Given the description of an element on the screen output the (x, y) to click on. 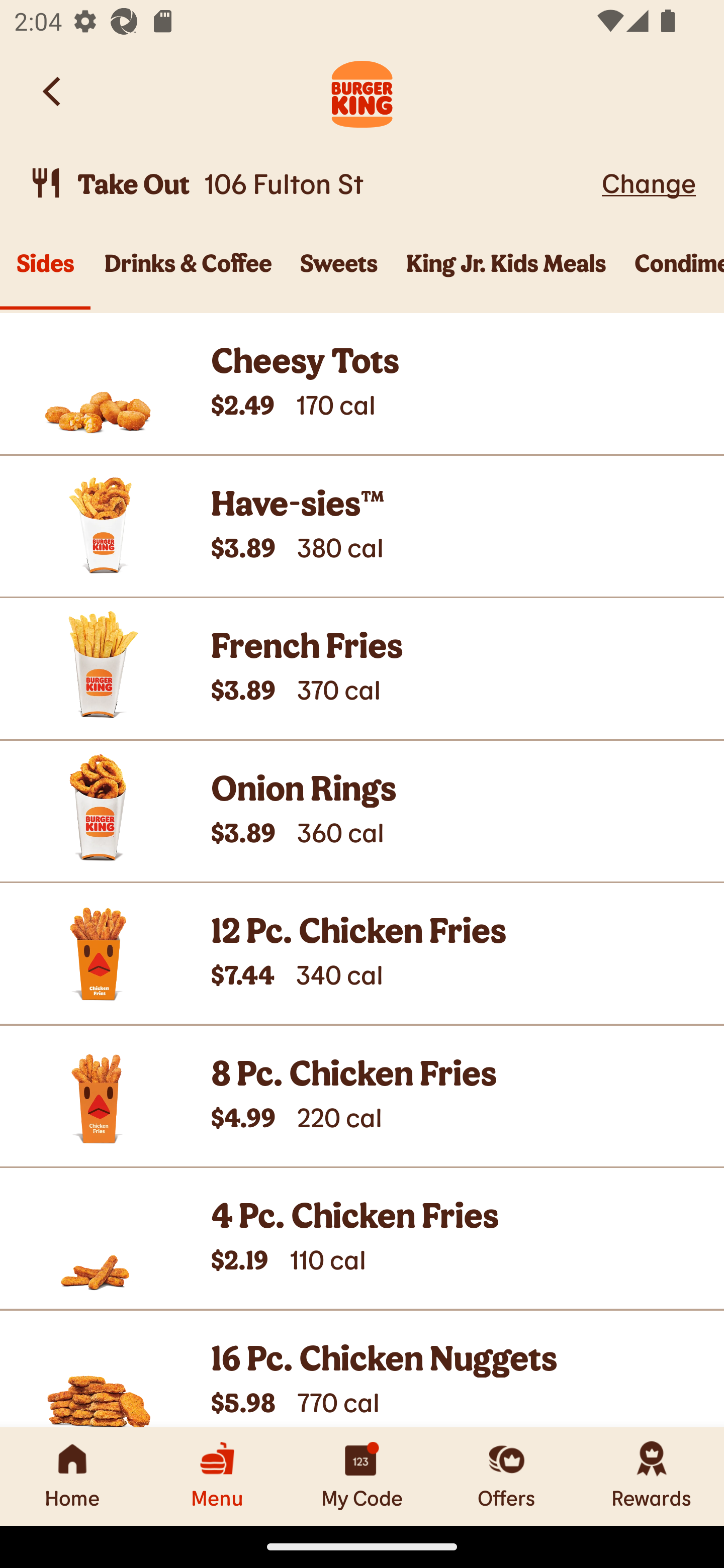
Burger King Logo. Navigate to Home (362, 91)
Back (52, 91)
Take Out, 106 Fulton St  Take Out 106 Fulton St (311, 183)
Change (648, 182)
Sides (45, 273)
Drinks & Coffee (187, 273)
Sweets (338, 273)
King Jr. Kids Meals (506, 273)
Condiments (672, 273)
Home (72, 1475)
Menu (216, 1475)
My Code (361, 1475)
Offers (506, 1475)
Rewards (651, 1475)
